Given the description of an element on the screen output the (x, y) to click on. 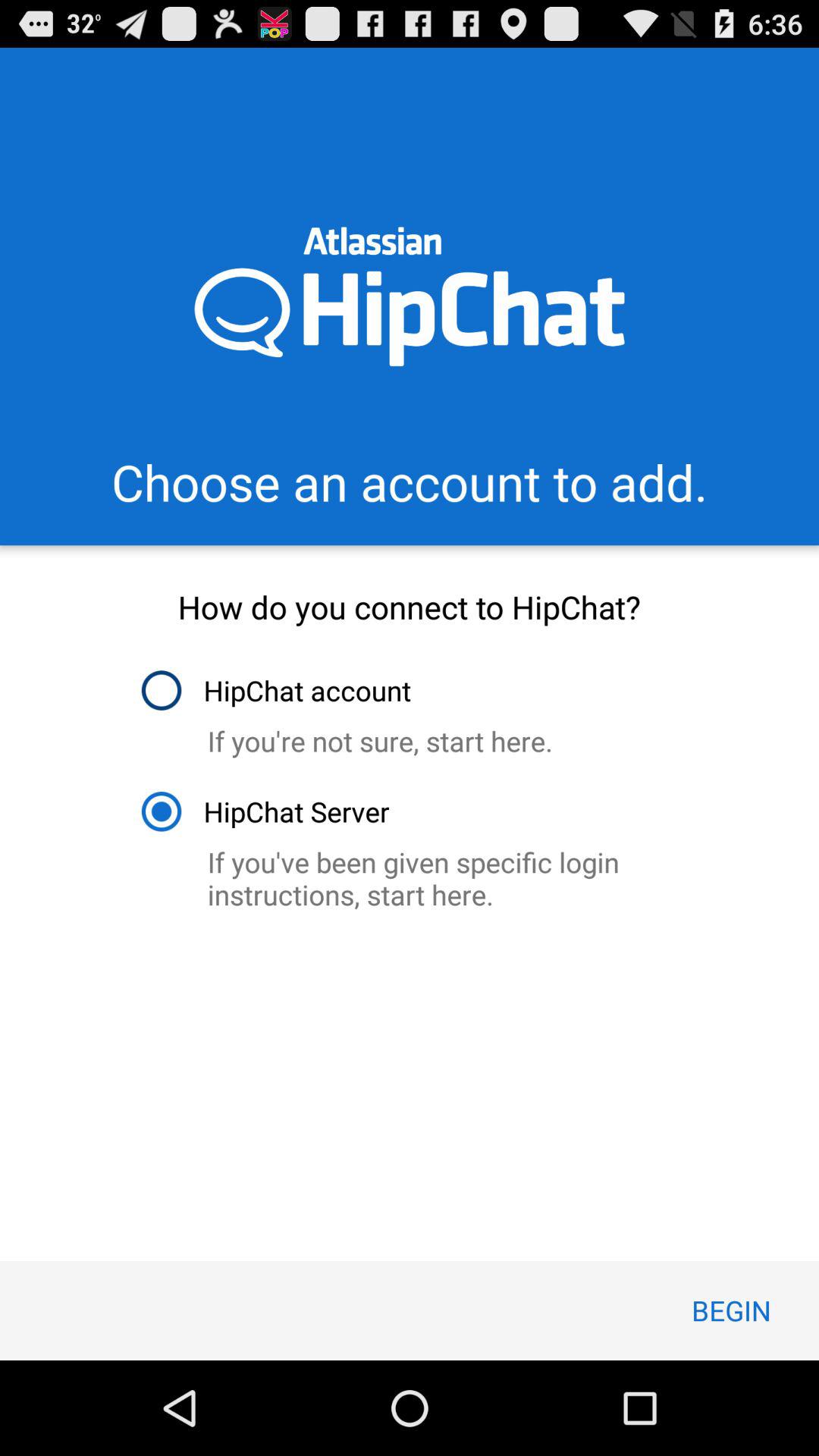
click the hipchat server item (264, 811)
